Given the description of an element on the screen output the (x, y) to click on. 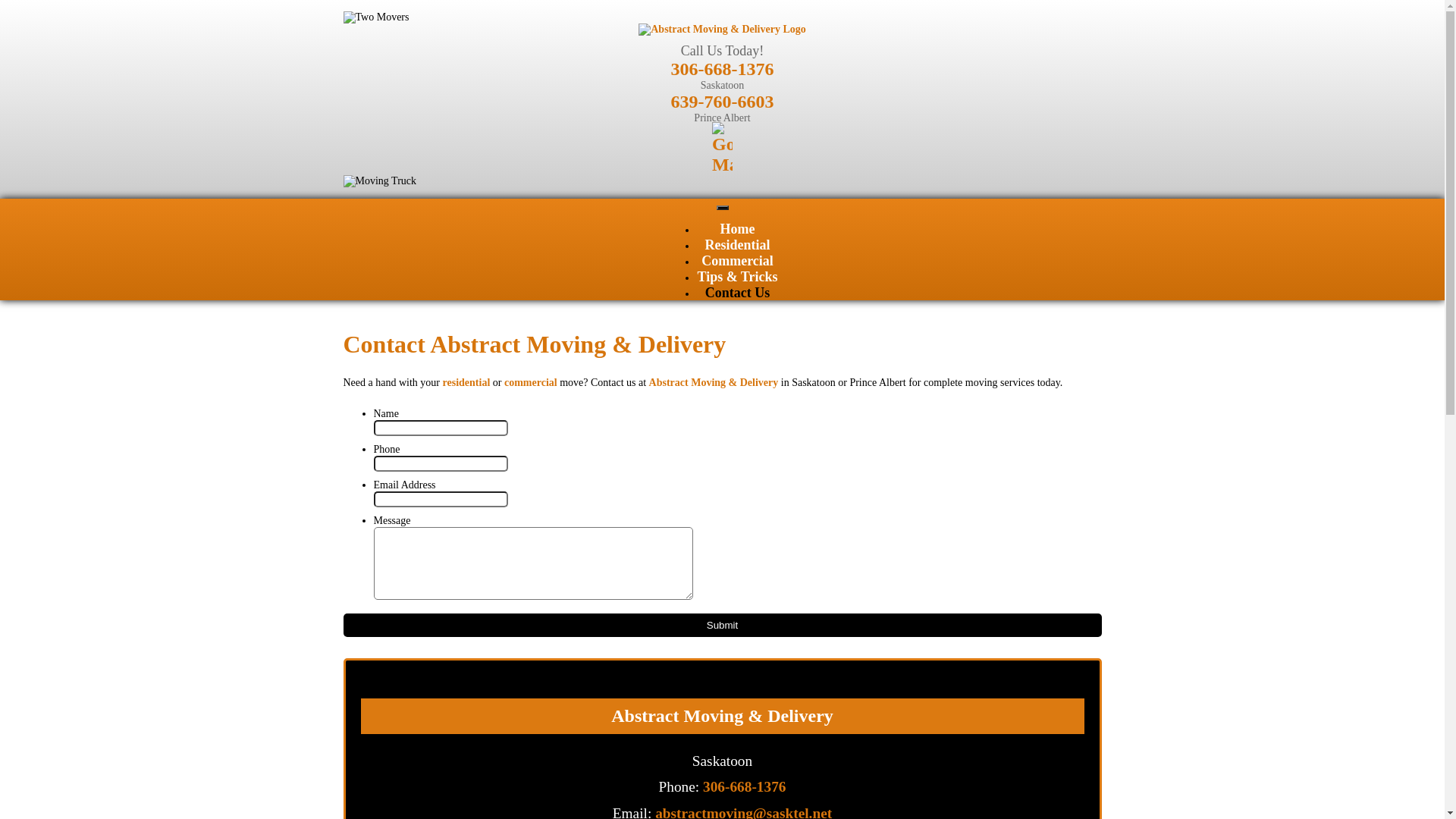
Tips & Tricks Element type: text (736, 276)
306-668-1376 Element type: text (721, 68)
639-760-6603 Element type: text (721, 101)
Residential Element type: text (736, 244)
Contact Us Element type: text (737, 292)
Abstract Moving & Delivery Logo Element type: hover (722, 29)
Abstract Moving & Delivery Element type: text (713, 382)
Submit Element type: text (721, 624)
Home Element type: text (737, 228)
Moving Truck Element type: hover (379, 181)
Two Movers Element type: hover (375, 17)
residential Element type: text (466, 382)
commercial Element type: text (530, 382)
306-668-1376 Element type: text (743, 786)
Commercial Element type: text (737, 260)
